Given the description of an element on the screen output the (x, y) to click on. 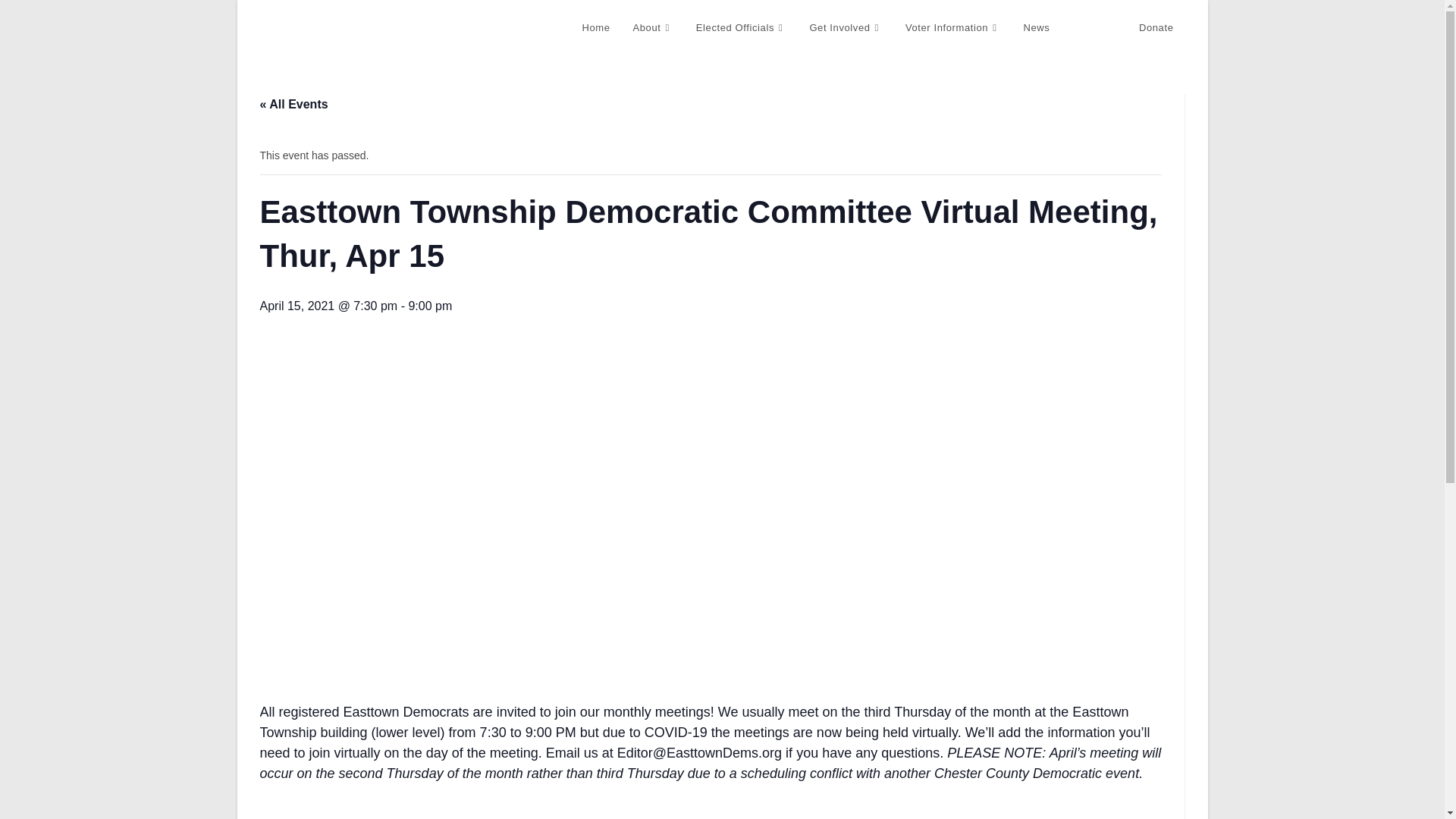
Donate (1155, 28)
Calendar (1093, 28)
Get Involved (845, 28)
About (652, 28)
Home (595, 28)
Voter Information (952, 28)
Elected Officials (740, 28)
